Given the description of an element on the screen output the (x, y) to click on. 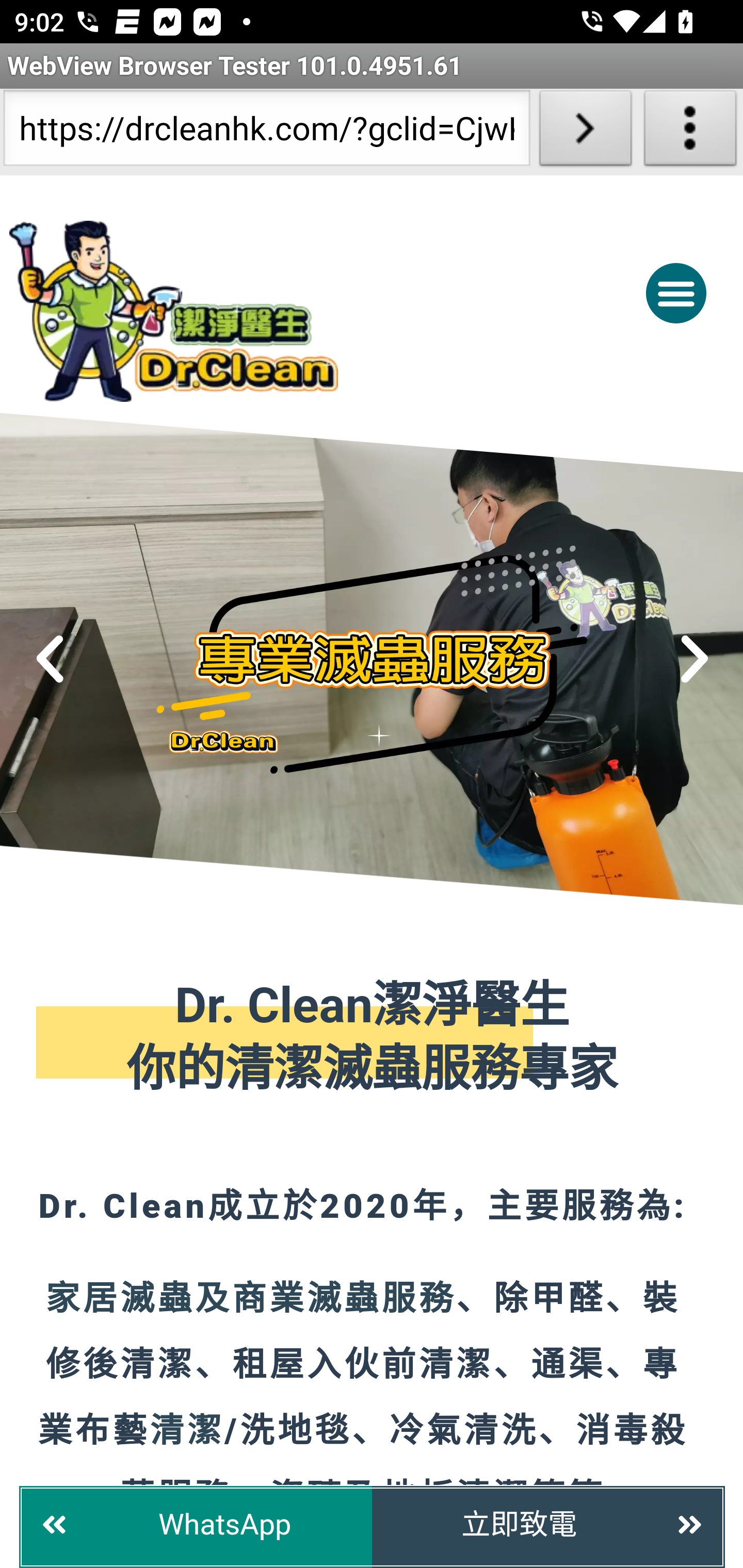
Load URL (585, 132)
About WebView (690, 132)
drcleanhk (254, 309)
Menu Toggle (675, 292)
Previous slide Next slide (371, 658)
Previous slide (50, 659)
Next slide (694, 659)
Dr. Clean潔淨醫生 你的清潔滅蟲服務專家 (372, 1038)
